Given the description of an element on the screen output the (x, y) to click on. 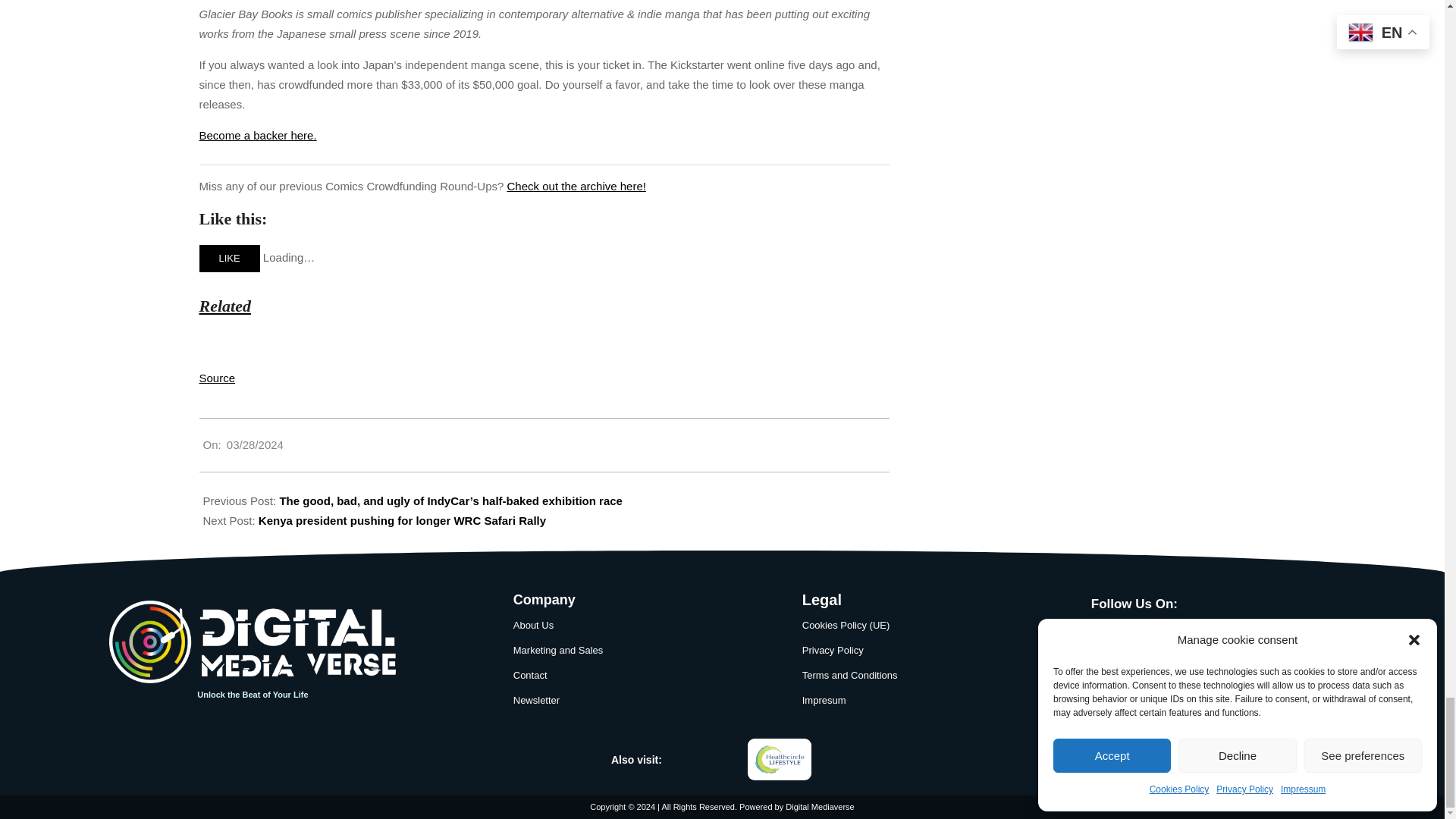
Thursday, March 28, 2024, 8:12 pm (255, 444)
